Given the description of an element on the screen output the (x, y) to click on. 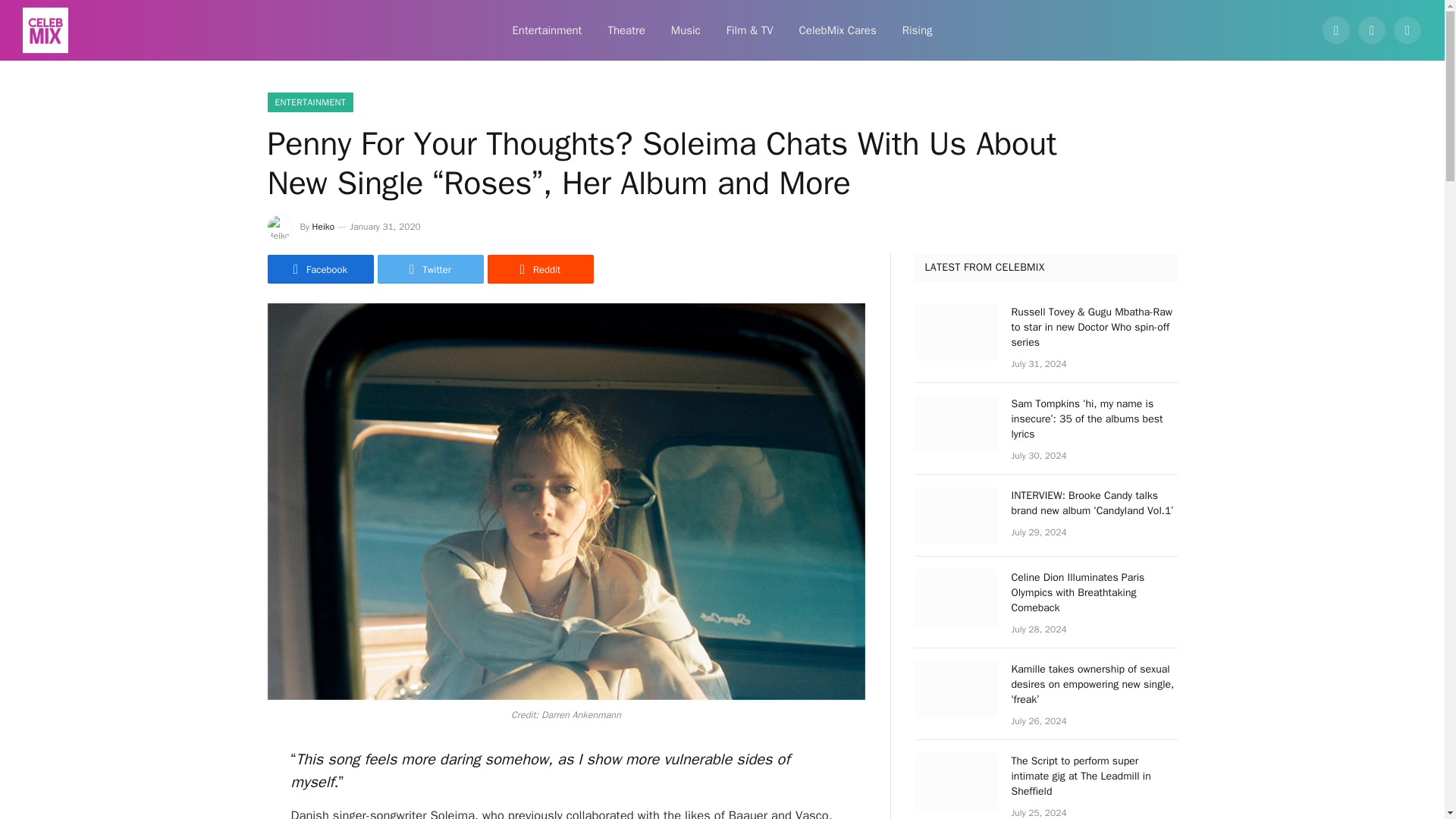
Twitter (430, 268)
Instagram (1407, 30)
CelebMix Cares (837, 30)
ENTERTAINMENT (309, 102)
Heiko (323, 226)
Facebook (1336, 30)
Reddit (539, 268)
Rising (916, 30)
Entertainment (546, 30)
Music (685, 30)
